Given the description of an element on the screen output the (x, y) to click on. 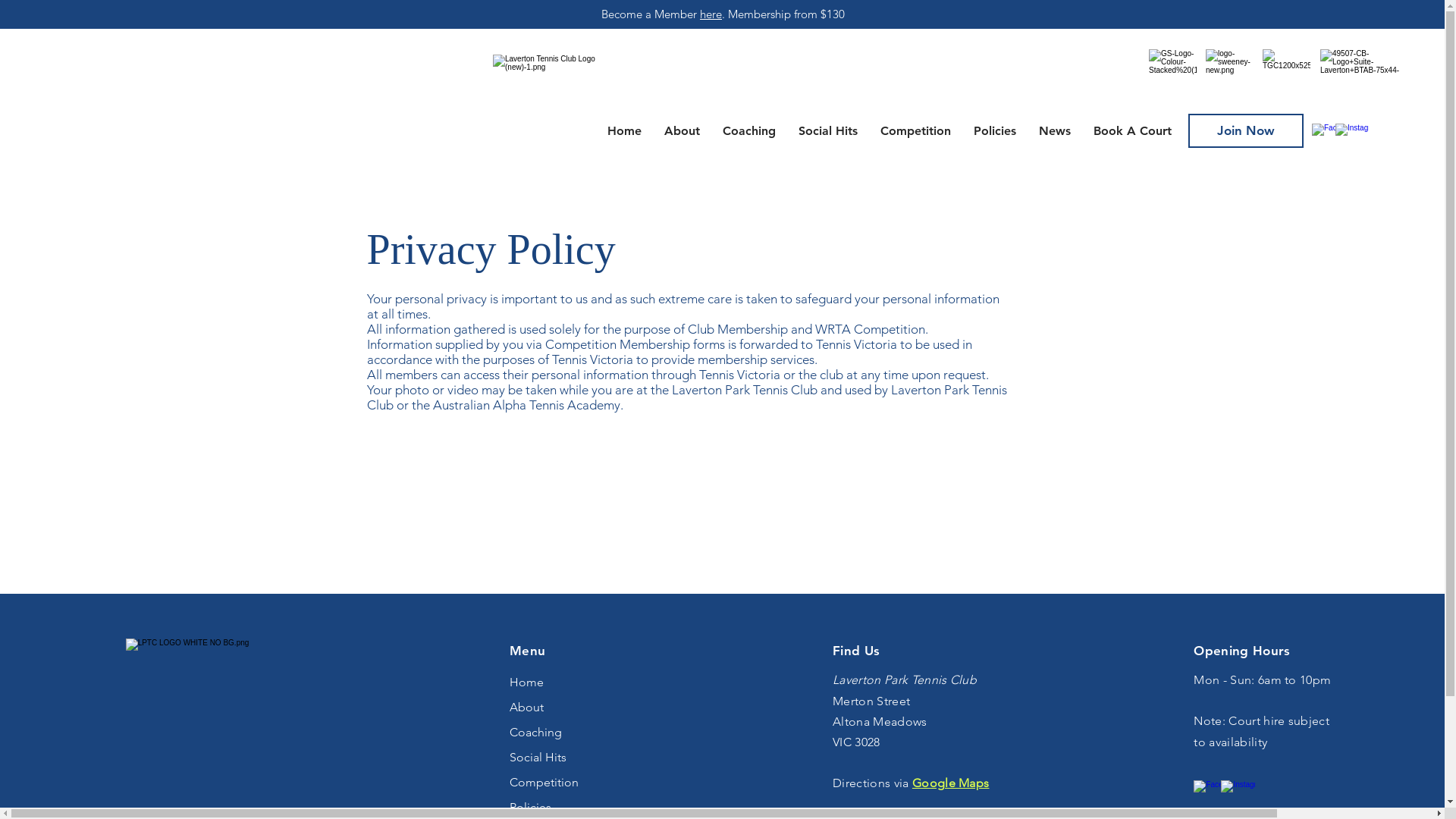
About Element type: text (681, 130)
Join Now Element type: text (1245, 130)
Home Element type: text (624, 130)
Membership from $130 Element type: text (786, 13)
here Element type: text (710, 13)
Home Element type: text (554, 681)
Competition Element type: text (554, 781)
Book A Court Element type: text (1132, 130)
News Element type: text (1054, 130)
About Element type: text (554, 706)
Social Hits Element type: text (554, 756)
Coaching Element type: text (749, 130)
Social Hits Element type: text (828, 130)
Competition Element type: text (915, 130)
Policies Element type: text (994, 130)
Coaching Element type: text (554, 731)
.  Element type: text (724, 13)
Google Maps Element type: text (950, 782)
